Given the description of an element on the screen output the (x, y) to click on. 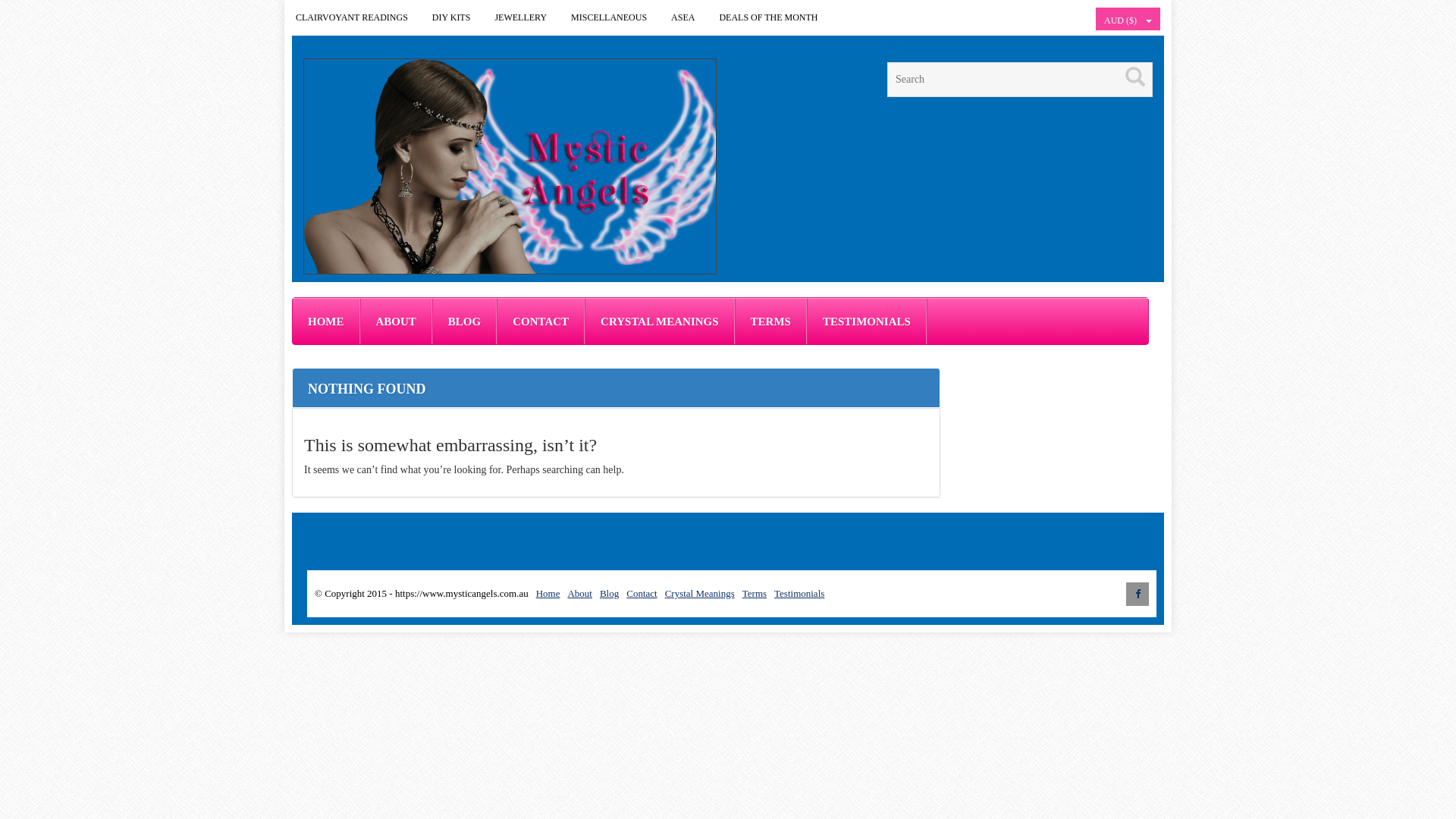
CRYSTAL MEANINGS Element type: text (659, 321)
TERMS Element type: text (770, 321)
Contact Element type: text (641, 593)
TESTIMONIALS Element type: text (866, 321)
ASEA Element type: text (682, 17)
About Element type: text (579, 593)
ABOUT Element type: text (395, 321)
Crystal Meanings Element type: text (699, 593)
CLAIRVOYANT READINGS Element type: text (351, 17)
Home Element type: text (548, 593)
HOME Element type: text (326, 321)
DEALS OF THE MONTH Element type: text (767, 17)
CONTACT Element type: text (540, 321)
DIY KITS Element type: text (451, 17)
Testimonials Element type: text (799, 593)
MISCELLANEOUS Element type: text (608, 17)
Mystic Angels Element type: hover (509, 166)
Blog Element type: text (608, 593)
JEWELLERY Element type: text (520, 17)
BLOG Element type: text (464, 321)
Terms Element type: text (754, 593)
